Given the description of an element on the screen output the (x, y) to click on. 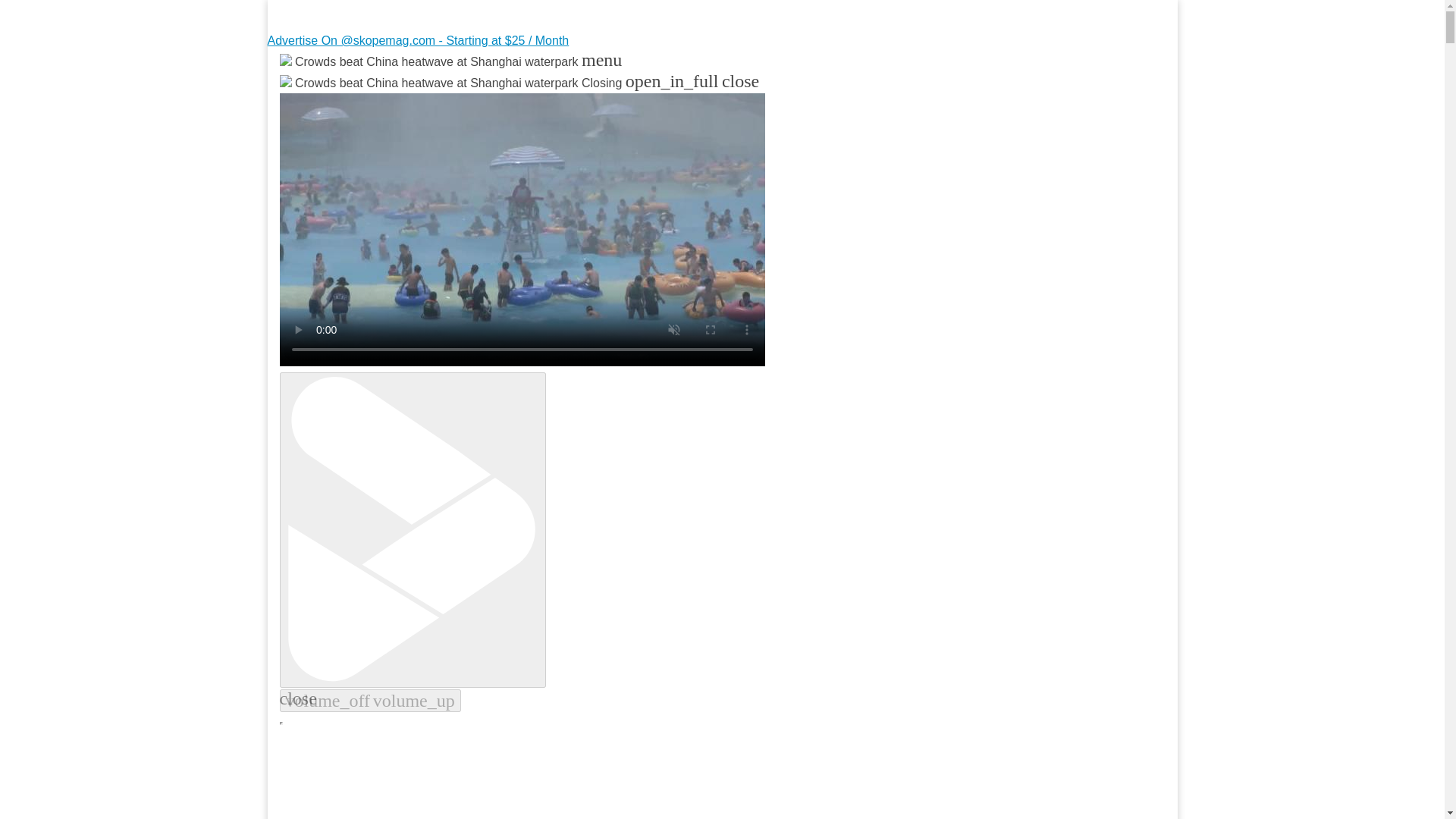
Skope Entertainment Inc (462, 98)
Skope Entertainment Inc (462, 98)
